Given the description of an element on the screen output the (x, y) to click on. 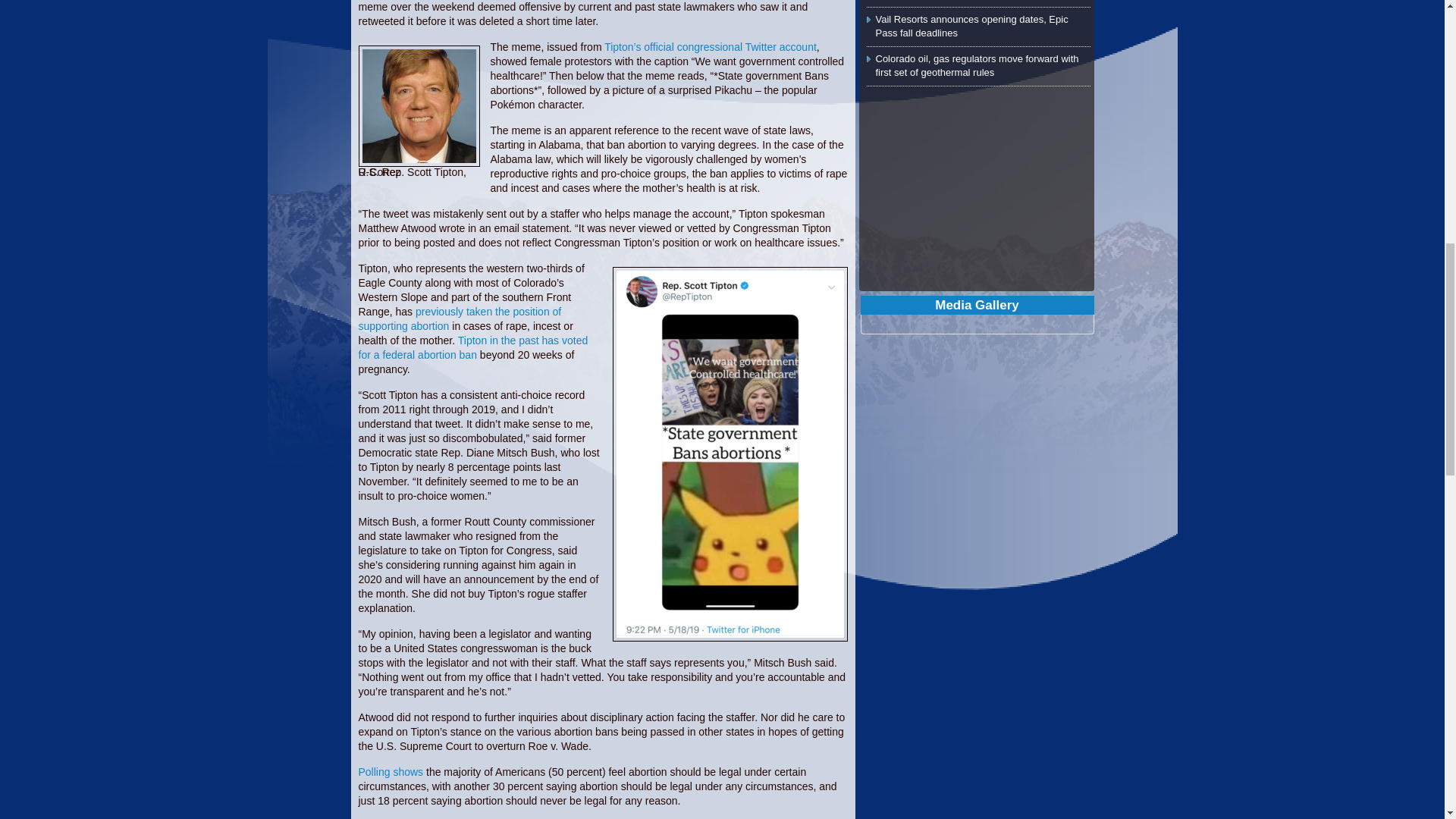
Tipton in the past has voted for a federal abortion ban (473, 347)
previously taken the position of supporting abortion (459, 318)
Polling shows (390, 771)
